Given the description of an element on the screen output the (x, y) to click on. 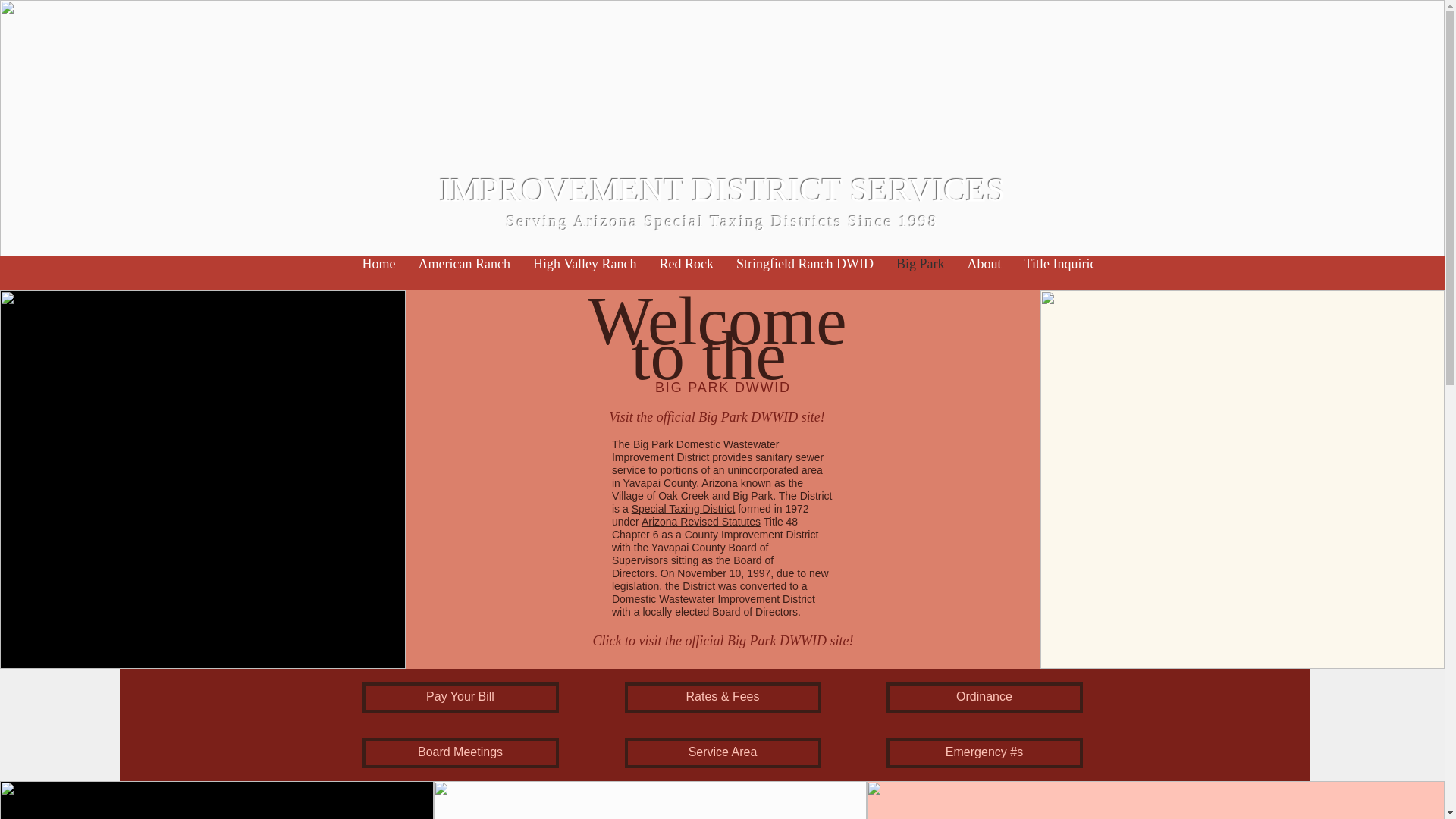
Board of Directors (754, 612)
About (984, 272)
Visit the official Big Park DWWID site! (716, 417)
Special Taxing District (683, 508)
Pay Your Bill (460, 697)
High Valley Ranch (584, 272)
Yavapai County (660, 482)
Title Inquiries (1063, 272)
Click to visit the official Big Park DWWID site! (722, 641)
Stringfield Ranch DWID (805, 272)
